Given the description of an element on the screen output the (x, y) to click on. 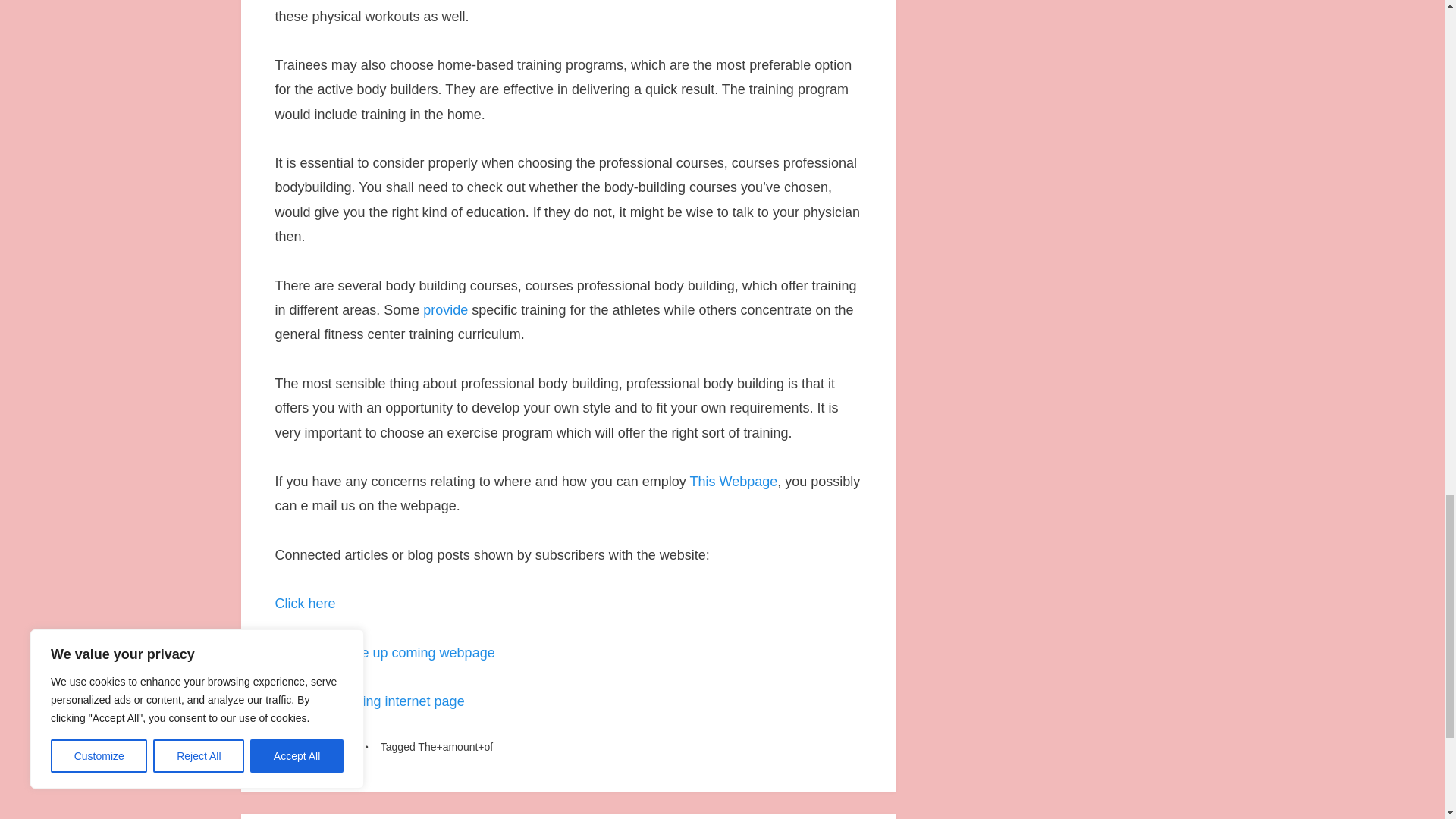
Click here (304, 603)
mouse click the up coming webpage (385, 652)
This Webpage (733, 481)
click the following internet page (369, 701)
General (340, 746)
provide (445, 309)
